Given the description of an element on the screen output the (x, y) to click on. 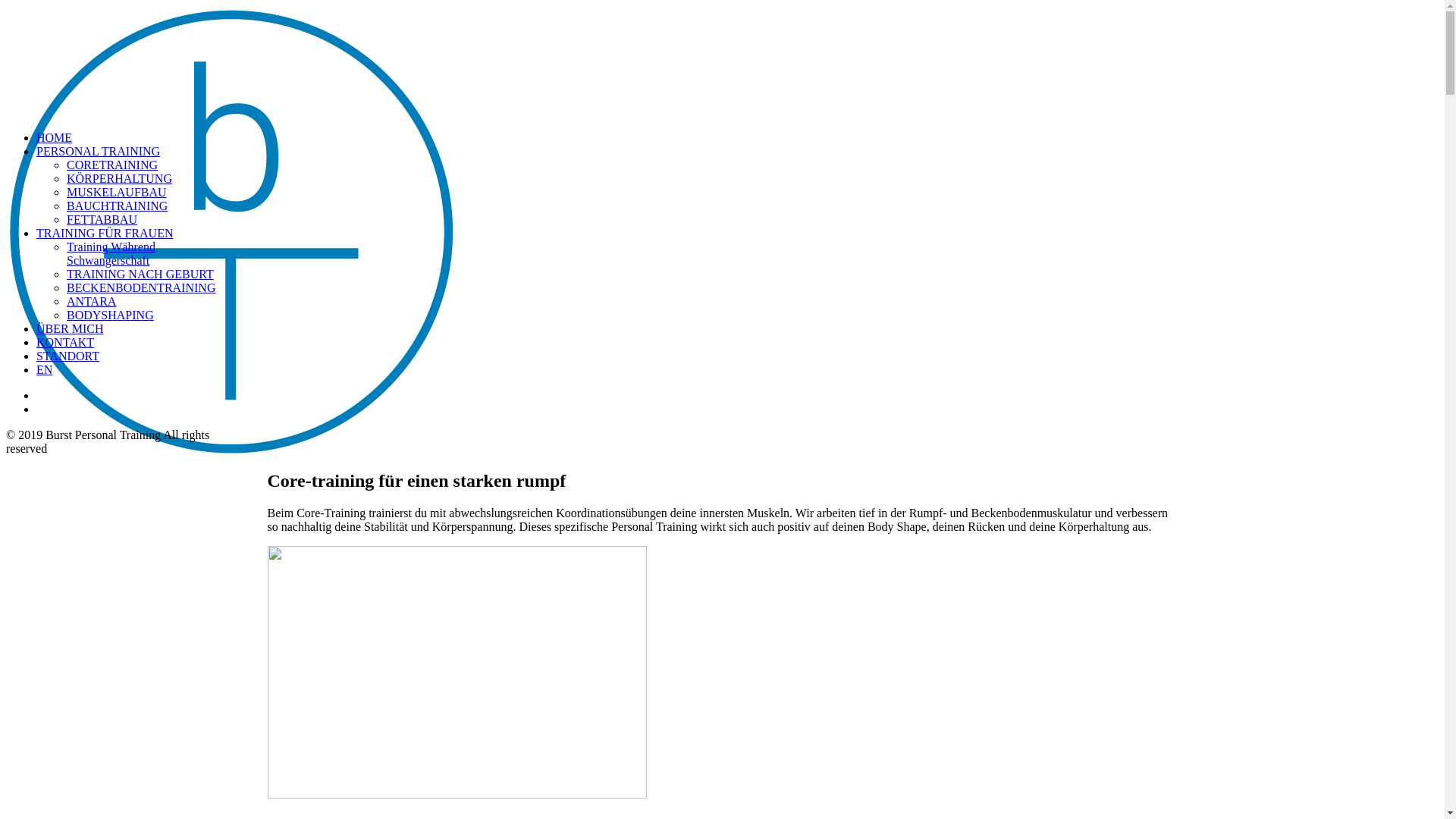
BODYSHAPING Element type: text (109, 314)
STANDORT Element type: text (67, 355)
KONTAKT Element type: text (65, 341)
PERSONAL TRAINING Element type: text (98, 150)
ANTARA Element type: text (91, 300)
FETTABBAU Element type: text (101, 219)
CORETRAINING Element type: text (111, 164)
EN Element type: text (44, 369)
TRAINING NACH GEBURT Element type: text (139, 273)
BECKENBODENTRAINING Element type: text (140, 287)
MUSKELAUFBAU Element type: text (116, 191)
HOME Element type: text (54, 137)
BAUCHTRAINING Element type: text (116, 205)
